Given the description of an element on the screen output the (x, y) to click on. 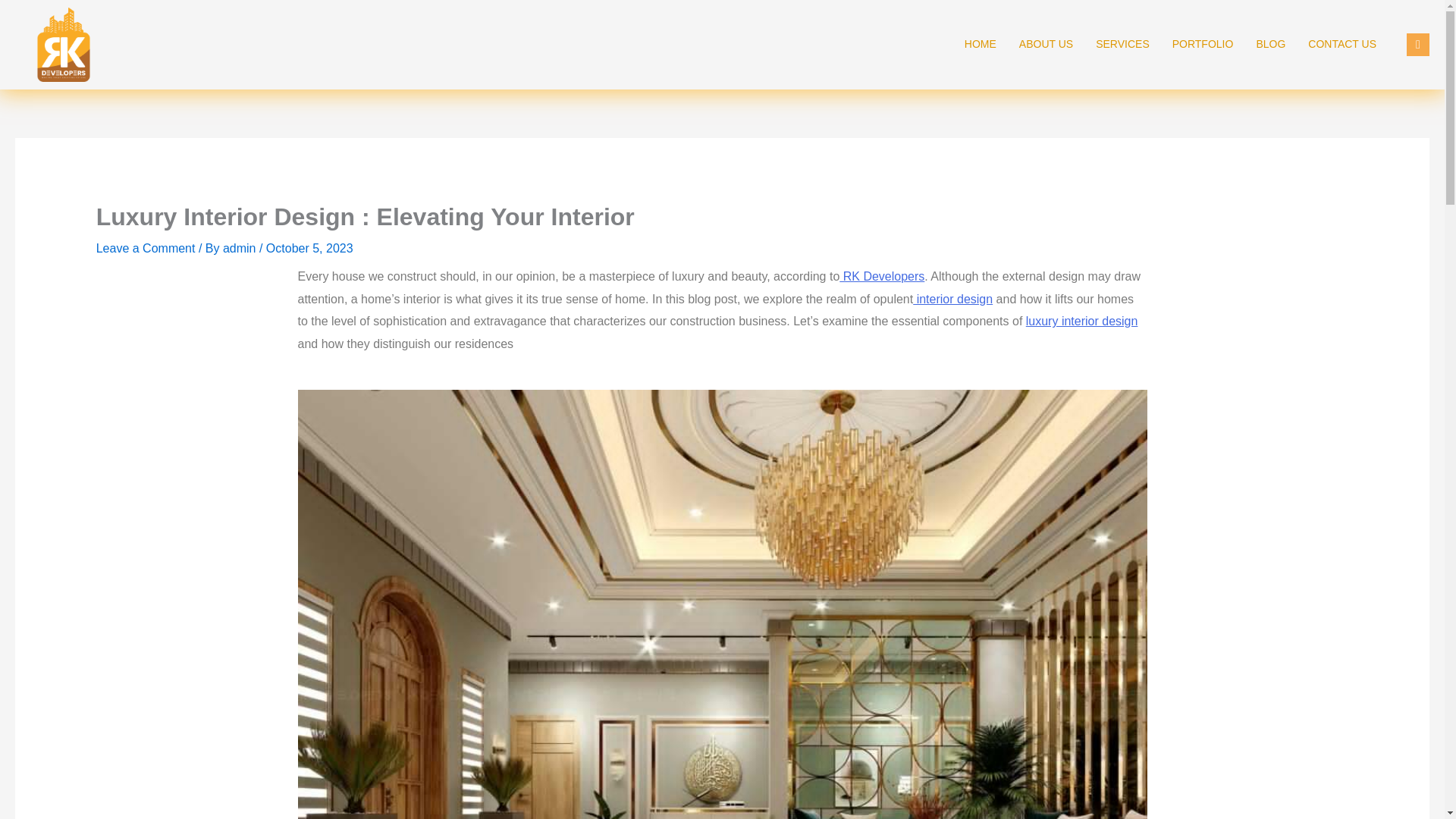
CONTACT US (1342, 44)
PORTFOLIO (1202, 44)
HOME (980, 44)
luxury interior design (1082, 320)
admin (240, 247)
interior design (952, 298)
ABOUT US (1045, 44)
RK Developers (882, 276)
View all posts by admin (240, 247)
SERVICES (1122, 44)
